Given the description of an element on the screen output the (x, y) to click on. 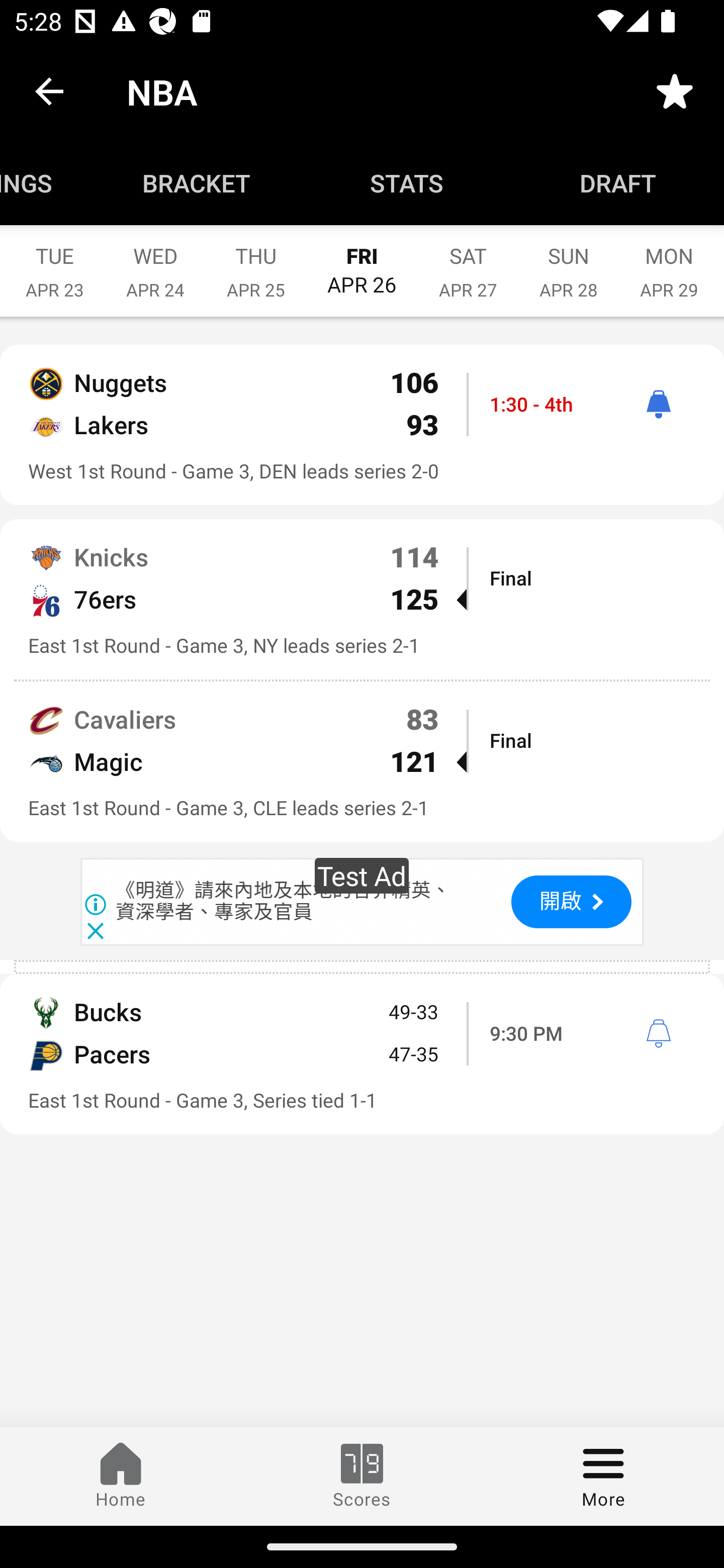
back.button (49, 90)
Favorite toggle (674, 90)
Bracket BRACKET (195, 183)
Stats STATS (406, 183)
Draft DRAFT (618, 183)
TUE APR 23 (54, 262)
WED APR 24 (154, 262)
THU APR 25 (255, 262)
FRI APR 26 (361, 261)
SAT APR 27 (467, 262)
SUN APR 28 (568, 262)
MON APR 29 (669, 262)
ì (658, 404)
開啟 (570, 901)
í (658, 1033)
Home (120, 1475)
Scores (361, 1475)
